Given the description of an element on the screen output the (x, y) to click on. 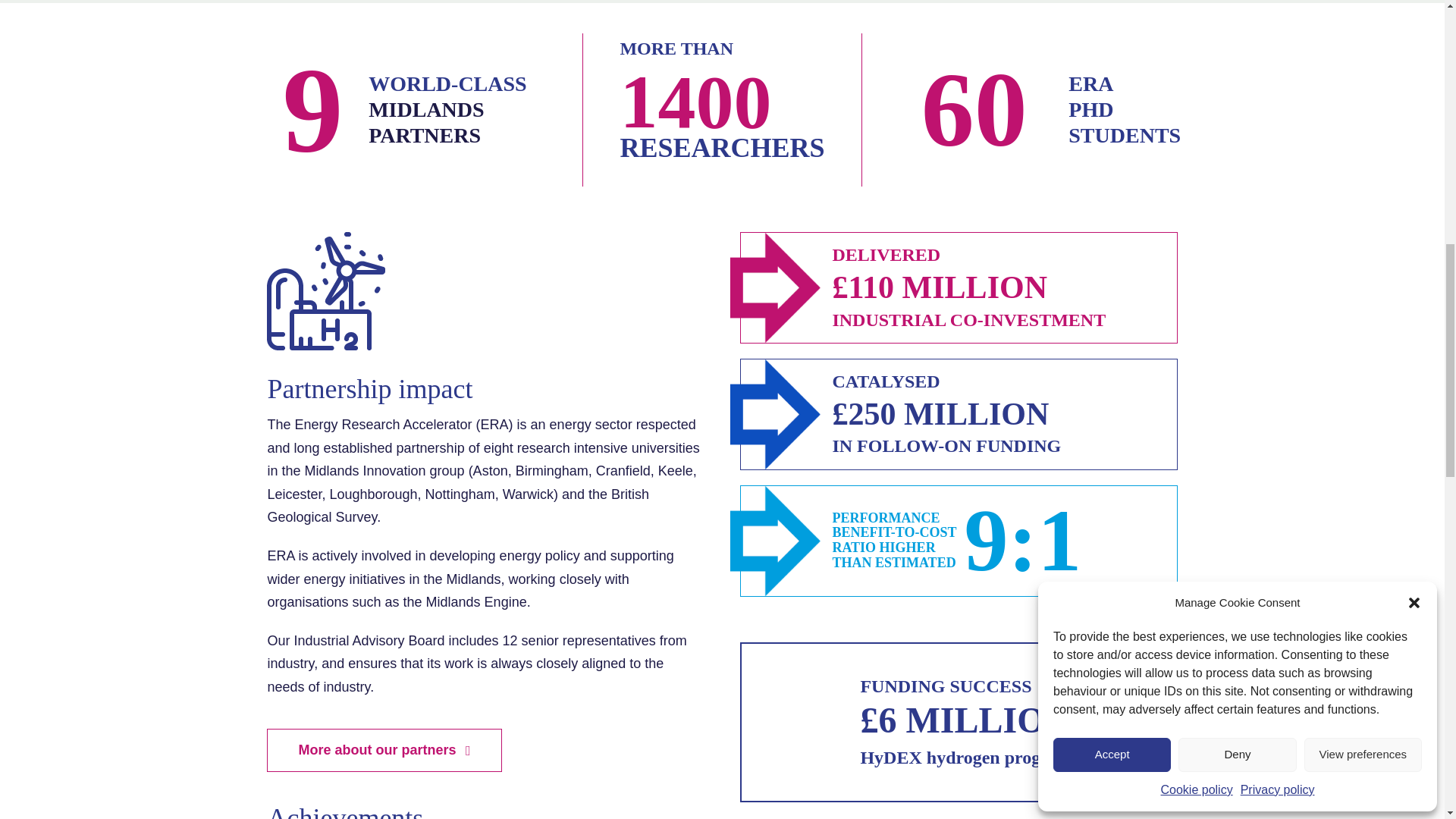
More about ERA partners (383, 750)
icon-wind-turbine (325, 290)
